Given the description of an element on the screen output the (x, y) to click on. 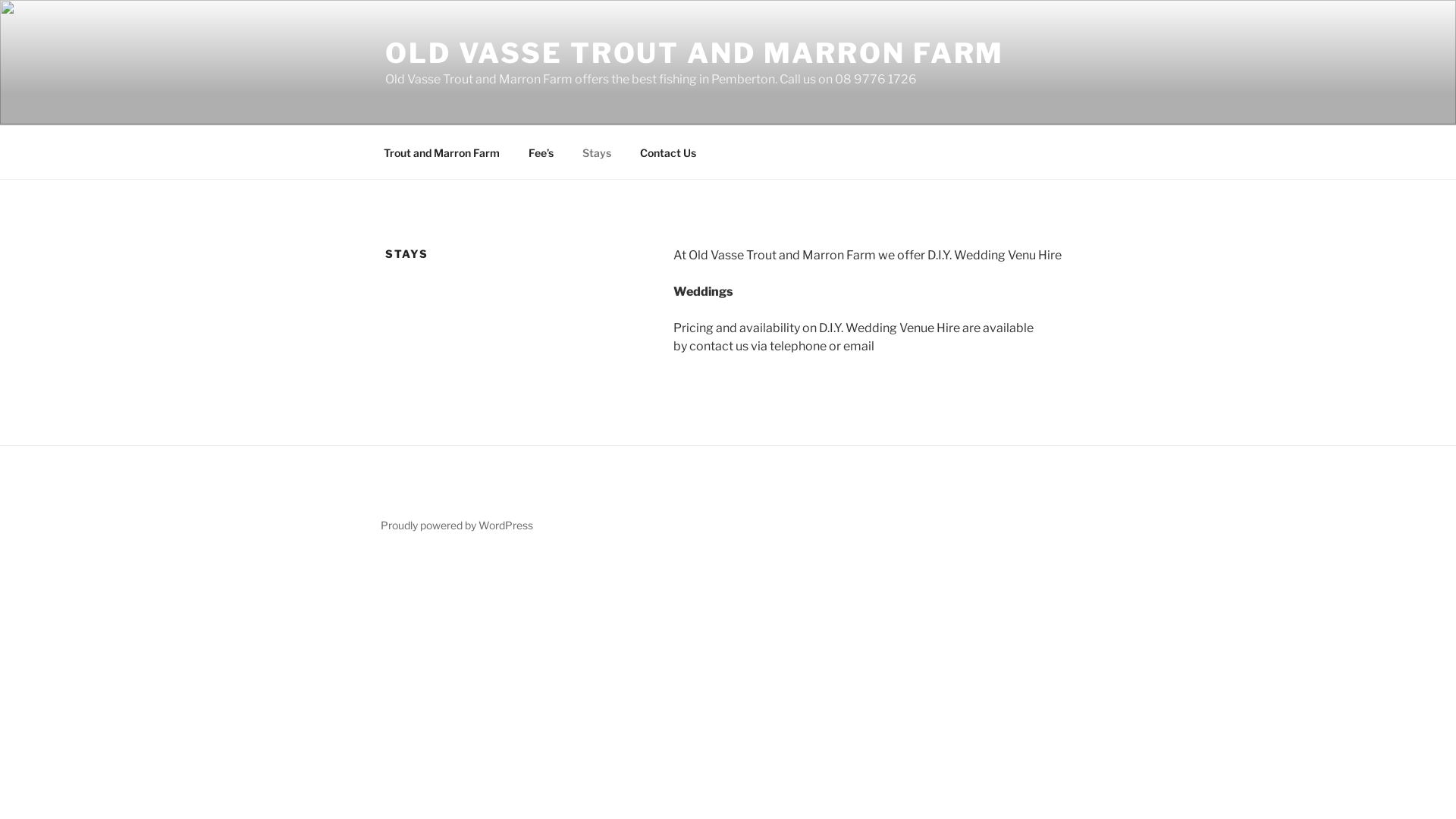
Contact Us Element type: text (667, 151)
Trout and Marron Farm Element type: text (441, 151)
Stays Element type: text (596, 151)
Proudly powered by WordPress Element type: text (456, 524)
OLD VASSE TROUT AND MARRON FARM Element type: text (694, 52)
